Given the description of an element on the screen output the (x, y) to click on. 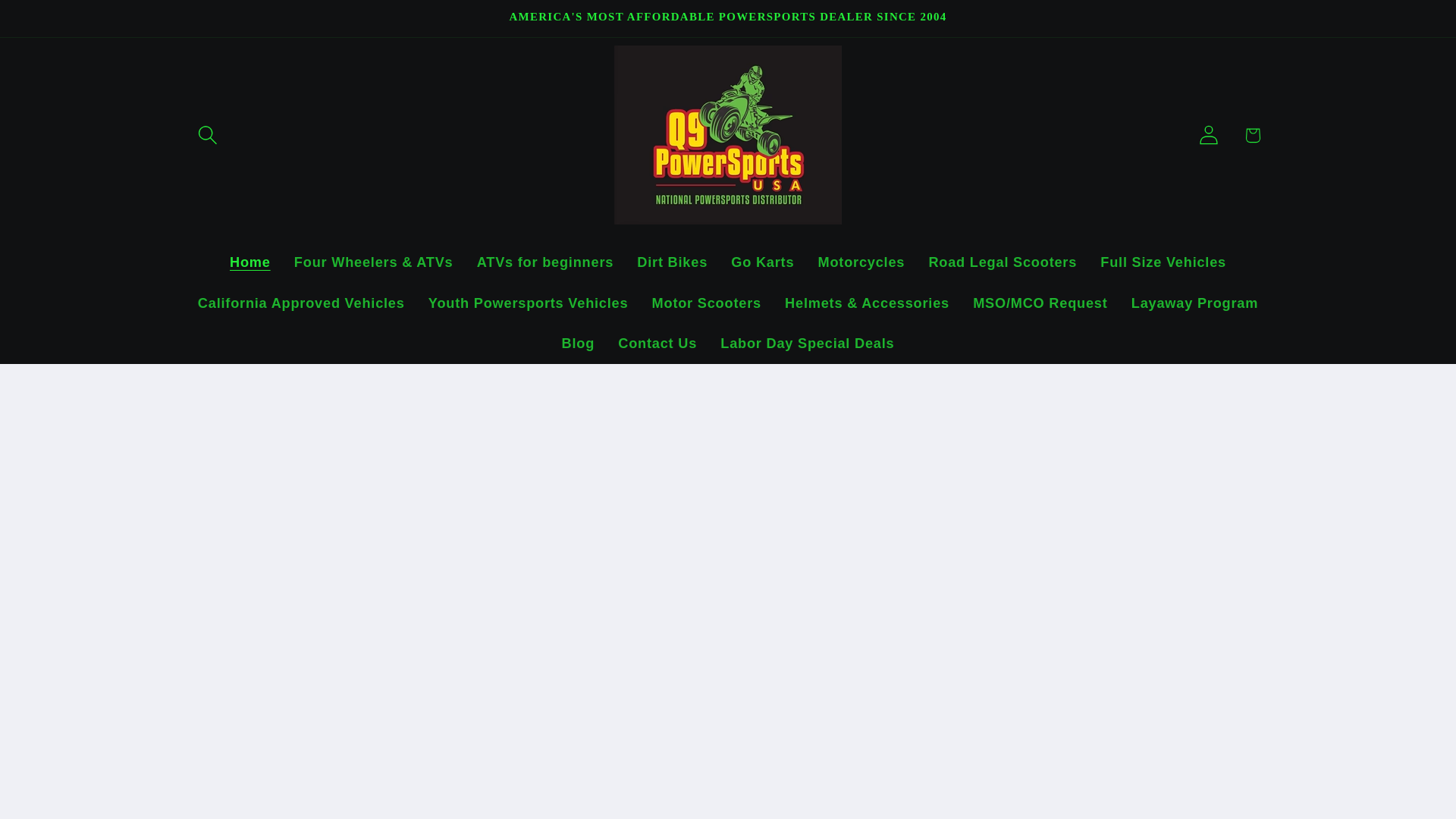
ATVs for beginners (545, 262)
Skip to content (59, 22)
Motorcycles (861, 262)
Road Legal Scooters (1003, 262)
Go Karts (762, 262)
Dirt Bikes (672, 262)
Home (249, 262)
